Given the description of an element on the screen output the (x, y) to click on. 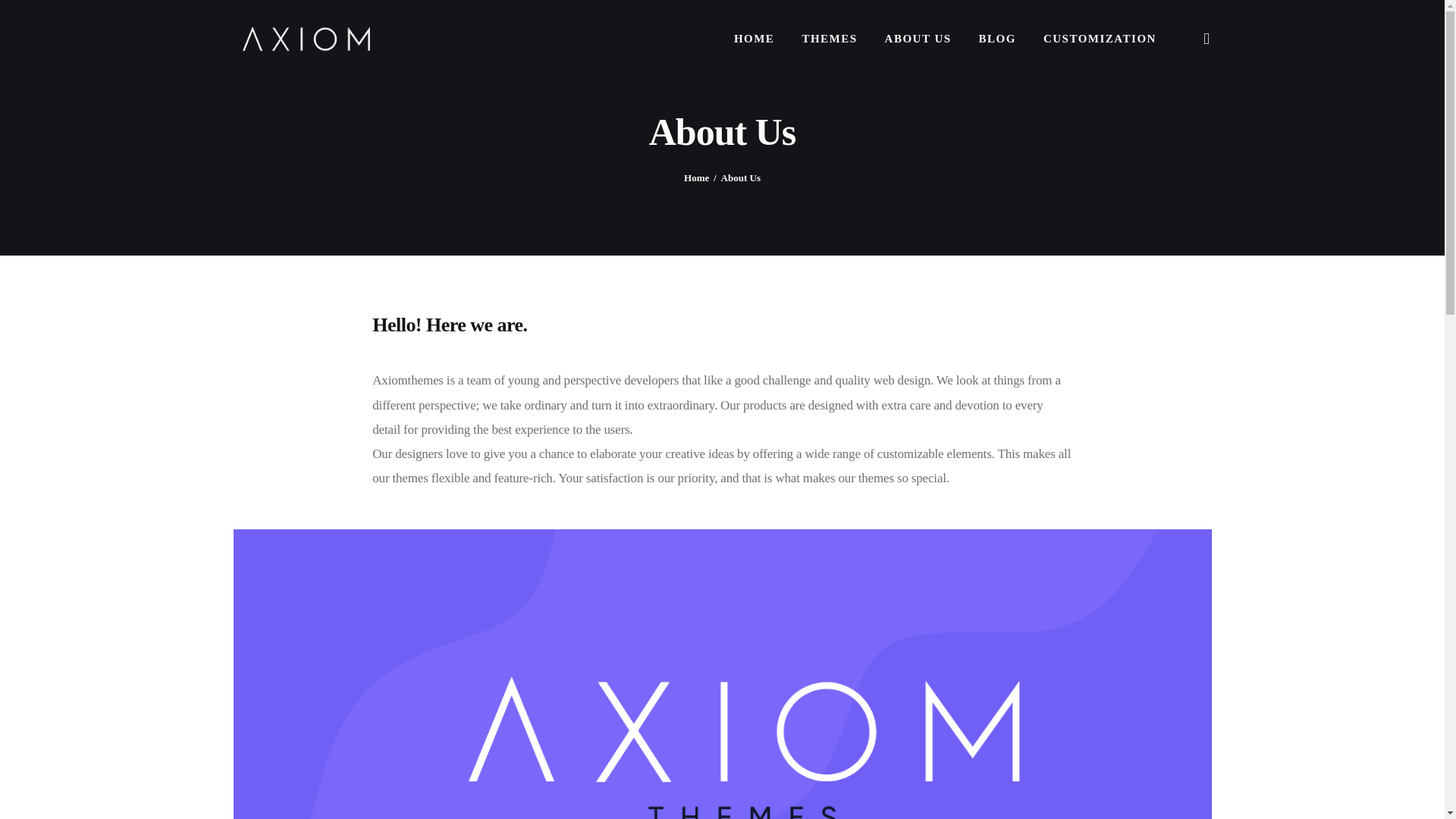
THEMES (828, 38)
ABOUT US (917, 38)
Home (696, 177)
BLOG (997, 38)
CUSTOMIZATION (1099, 38)
HOME (754, 38)
